Given the description of an element on the screen output the (x, y) to click on. 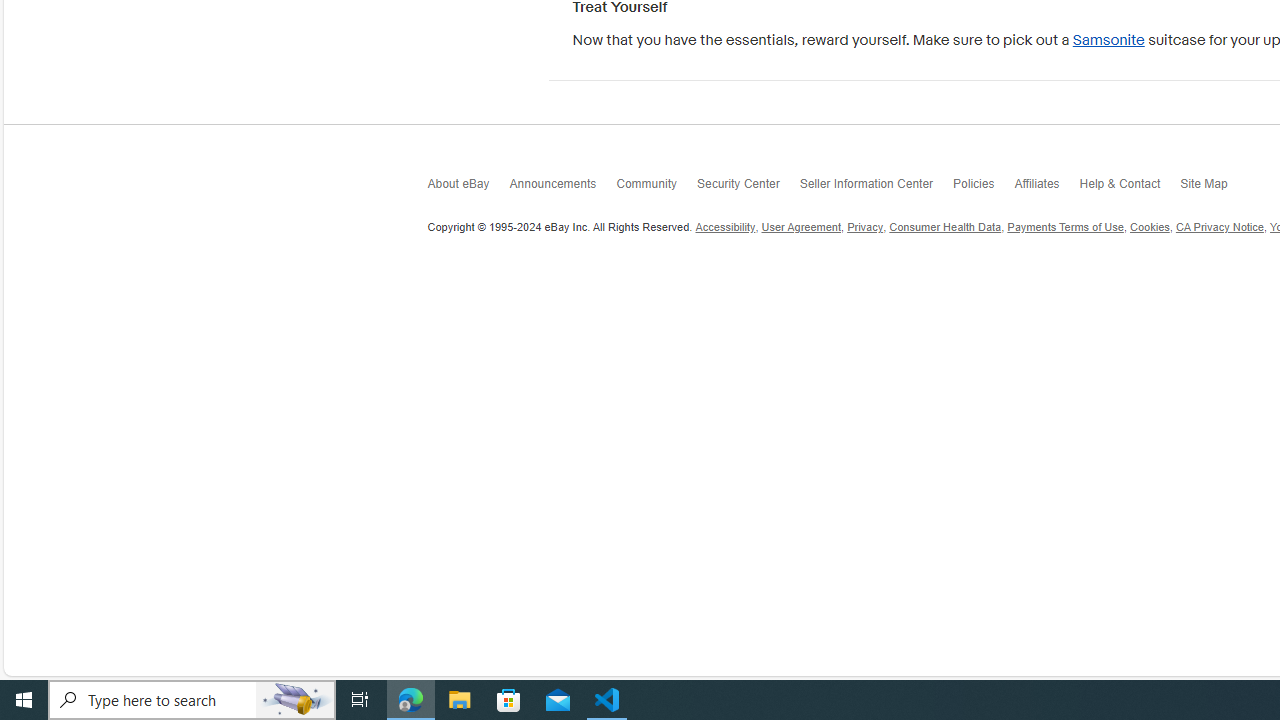
Policies (984, 188)
Site Map (1214, 187)
Announcements (562, 187)
Cookies (1149, 227)
Affiliates (1046, 188)
Accessibility (725, 227)
Consumer Health Data (945, 227)
Help & Contact (1130, 188)
Security Center (748, 187)
Affiliates (1046, 187)
Community (656, 188)
About eBay (468, 188)
Site Map (1214, 188)
Seller Information Center (875, 187)
Community (656, 187)
